Given the description of an element on the screen output the (x, y) to click on. 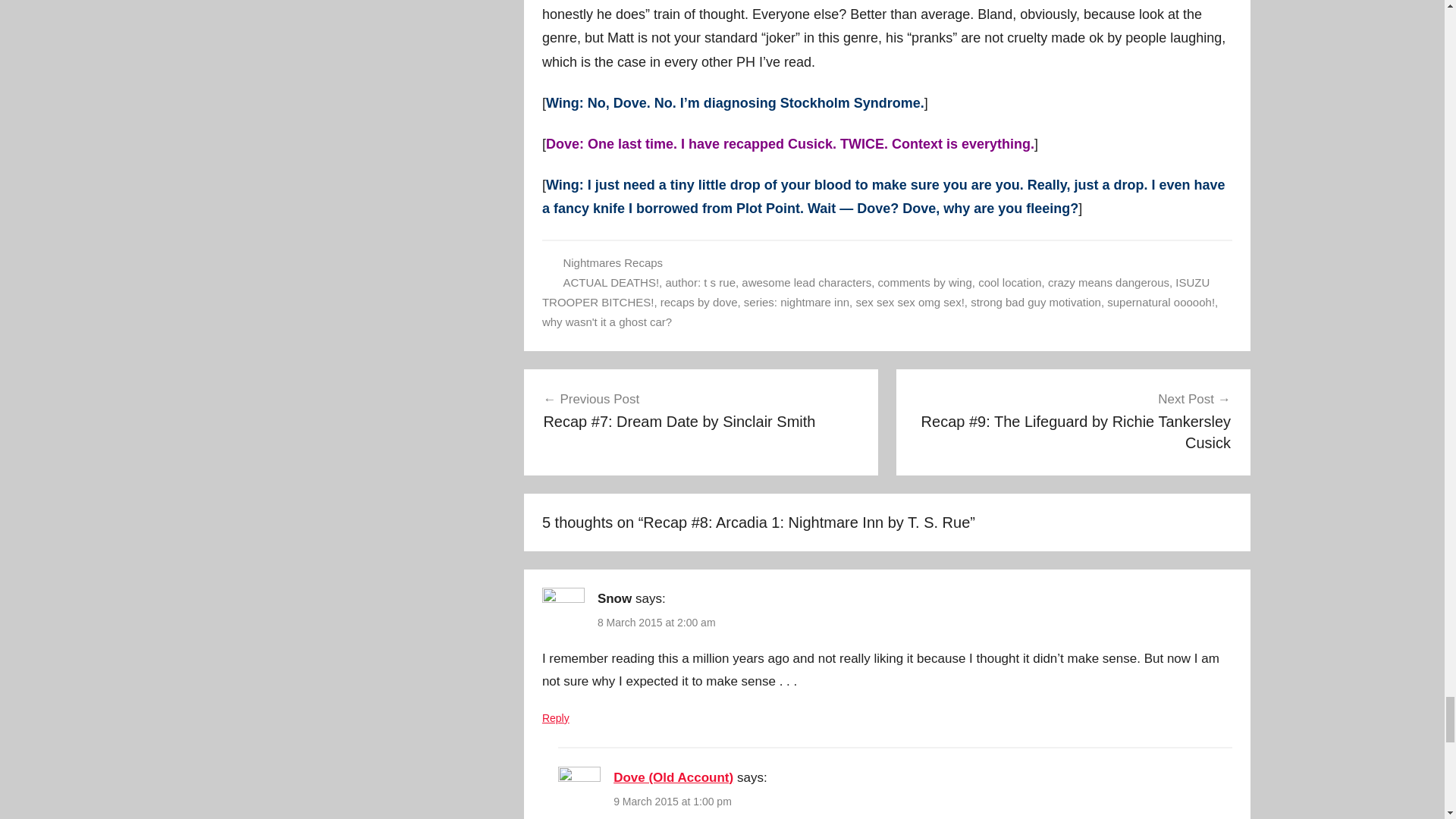
strong bad guy motivation (1035, 301)
9 March 2015 at 1:00 pm (672, 801)
series: nightmare inn (796, 301)
8 March 2015 at 2:00 am (656, 622)
ACTUAL DEATHS! (610, 282)
recaps by dove (699, 301)
sex sex sex omg sex! (909, 301)
author: t s rue (700, 282)
Reply (555, 717)
awesome lead characters (805, 282)
why wasn't it a ghost car? (606, 321)
Nightmares Recaps (612, 262)
cool location (1009, 282)
crazy means dangerous (1108, 282)
ISUZU TROOPER BITCHES! (875, 292)
